Given the description of an element on the screen output the (x, y) to click on. 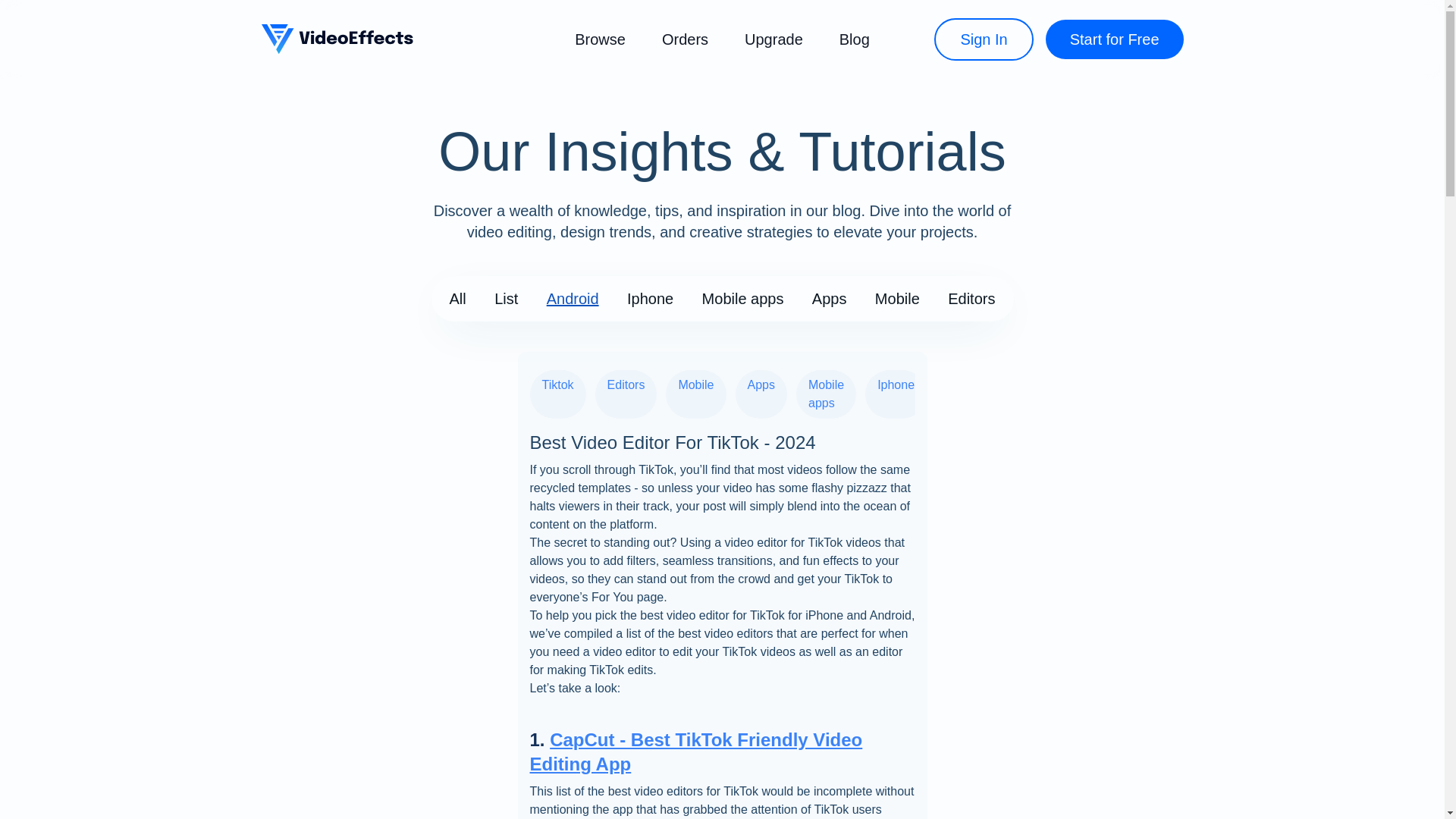
Upgrade (773, 39)
Apps (829, 298)
List (506, 298)
Orders (684, 39)
VideoEffects (336, 38)
Mobile apps (826, 394)
Iphone (895, 394)
Sign In (983, 39)
Best Video Editor For TikTok - 2024 (672, 442)
Mobile (897, 298)
Start for Free (1114, 38)
Mobile apps (742, 298)
Editors (626, 394)
Iphone (649, 298)
Blog (854, 39)
